Given the description of an element on the screen output the (x, y) to click on. 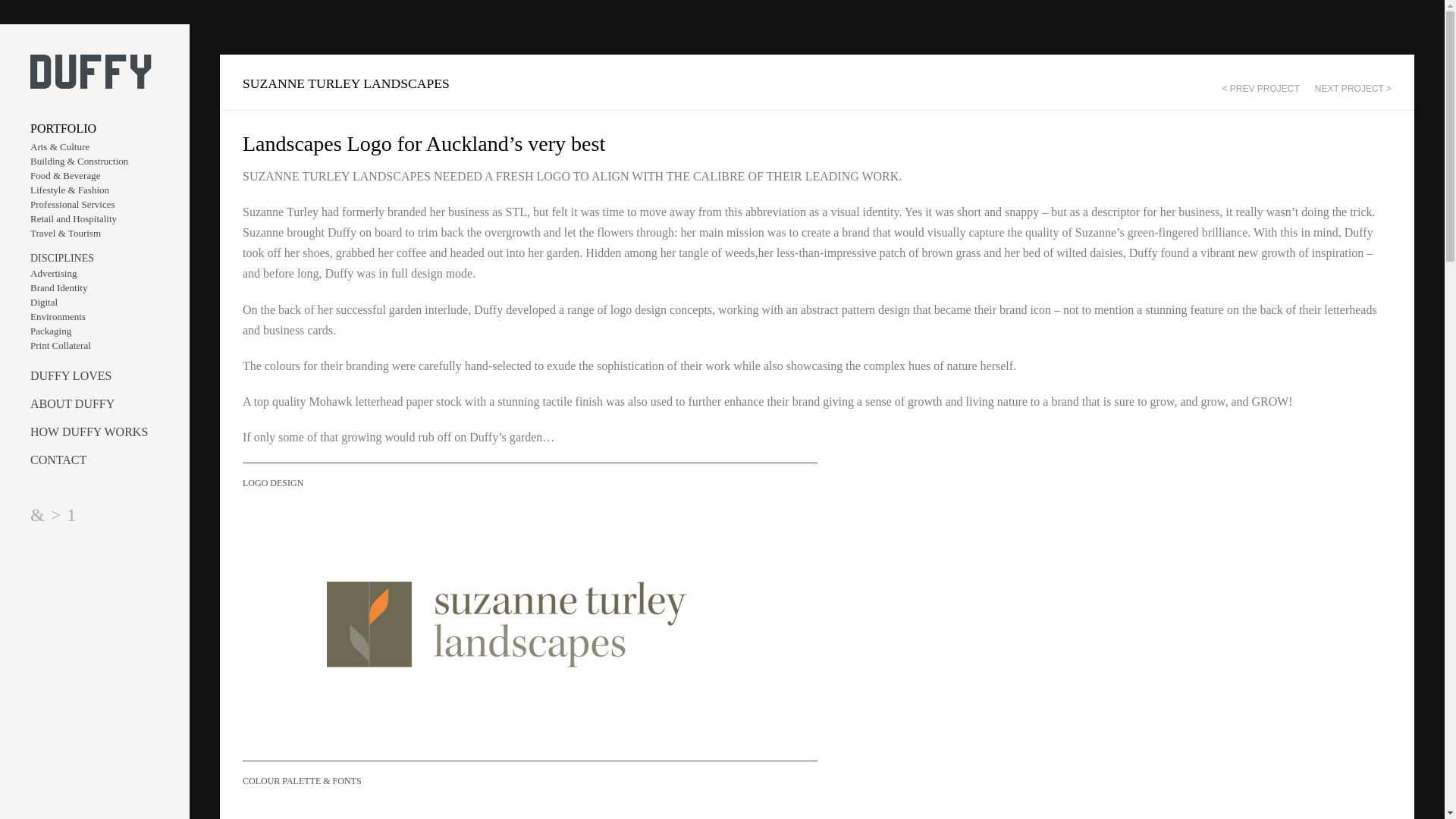
Digital (96, 301)
Packaging (96, 330)
Print Collateral (96, 345)
ABOUT DUFFY (96, 403)
DUFFY LOVES (96, 375)
Retail and Hospitality (96, 218)
CONTACT (96, 459)
Brand Identity (96, 287)
Environments (96, 316)
Advertising (96, 273)
